Given the description of an element on the screen output the (x, y) to click on. 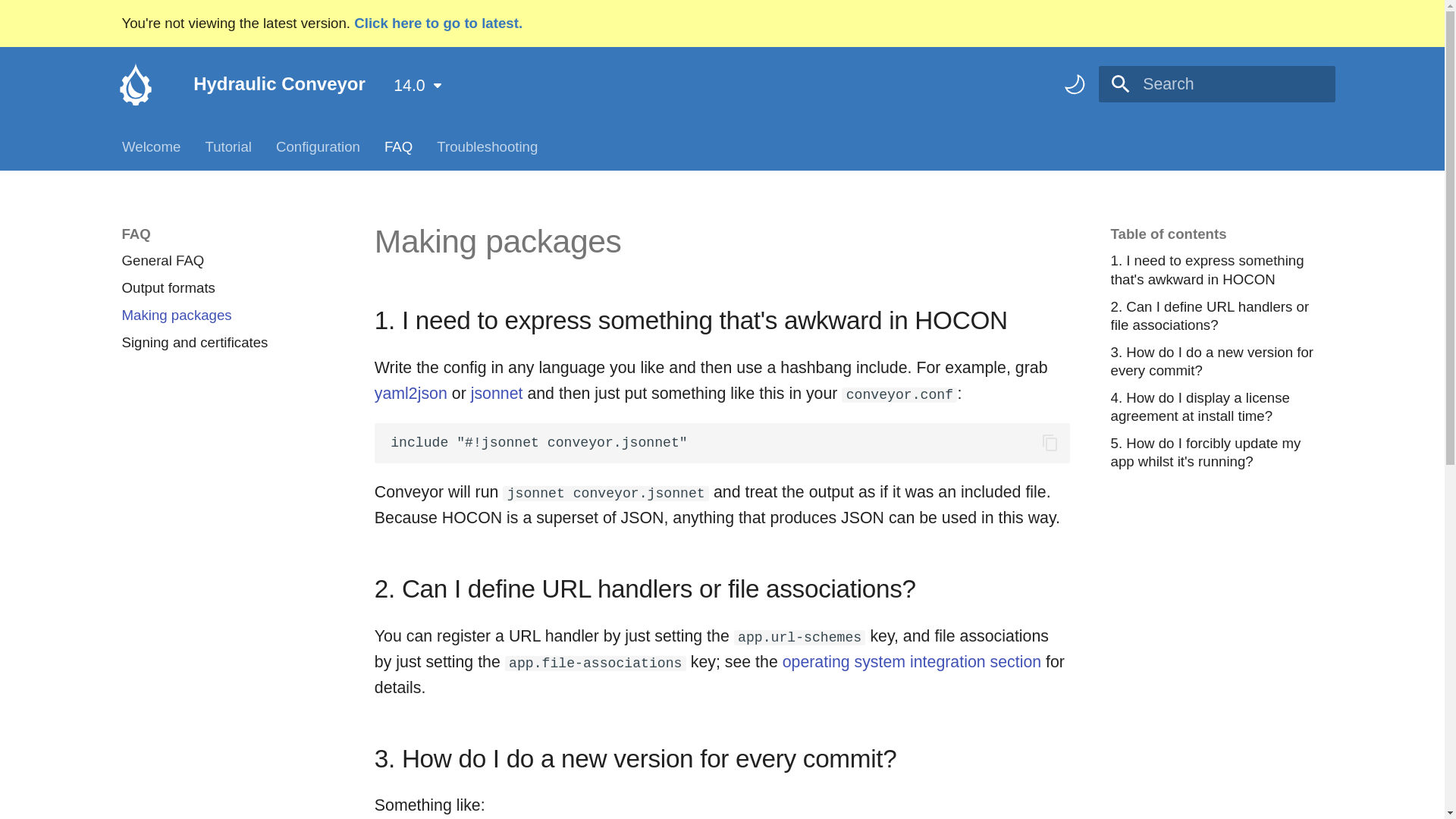
Switch to dark mode (1074, 84)
Hydraulic Conveyor (134, 83)
Click here to go to latest. (437, 23)
Copy to clipboard (1050, 442)
14.0 (417, 85)
